Given the description of an element on the screen output the (x, y) to click on. 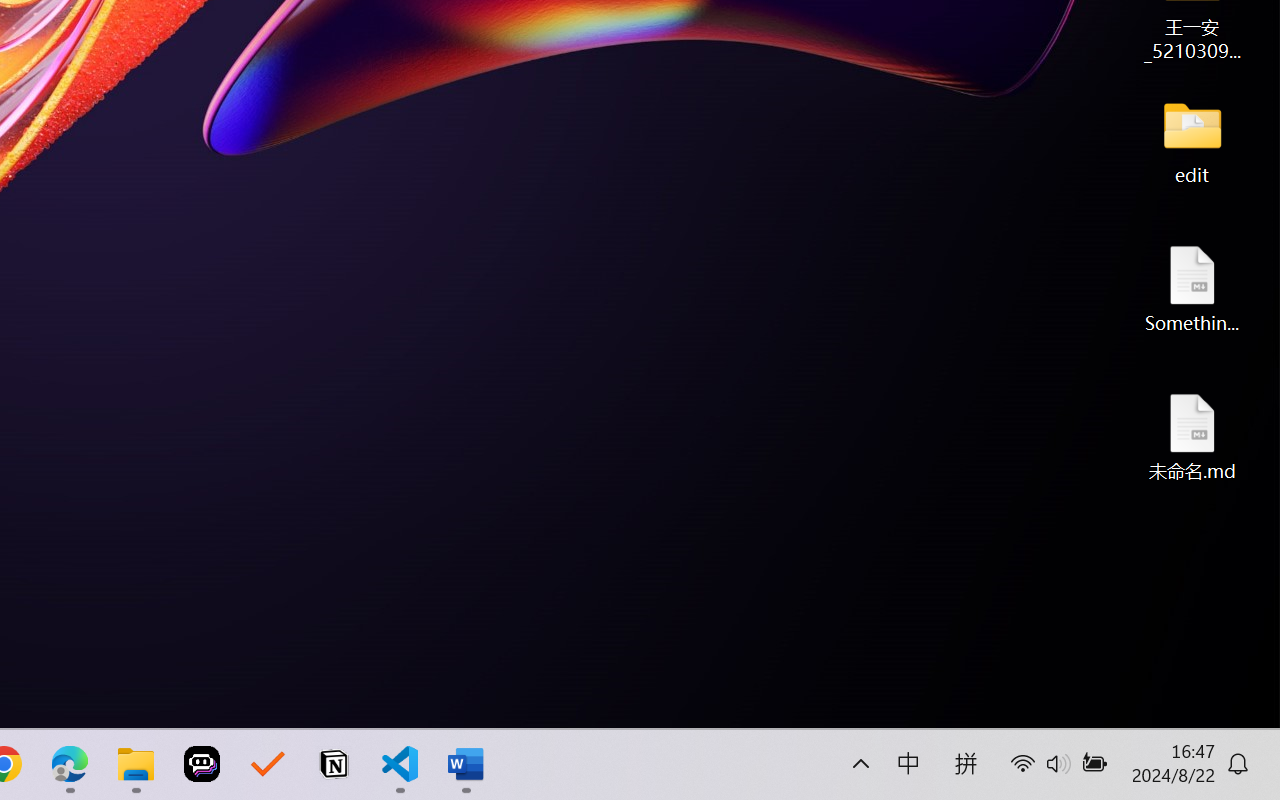
UTF-8 (139, 705)
